Given the description of an element on the screen output the (x, y) to click on. 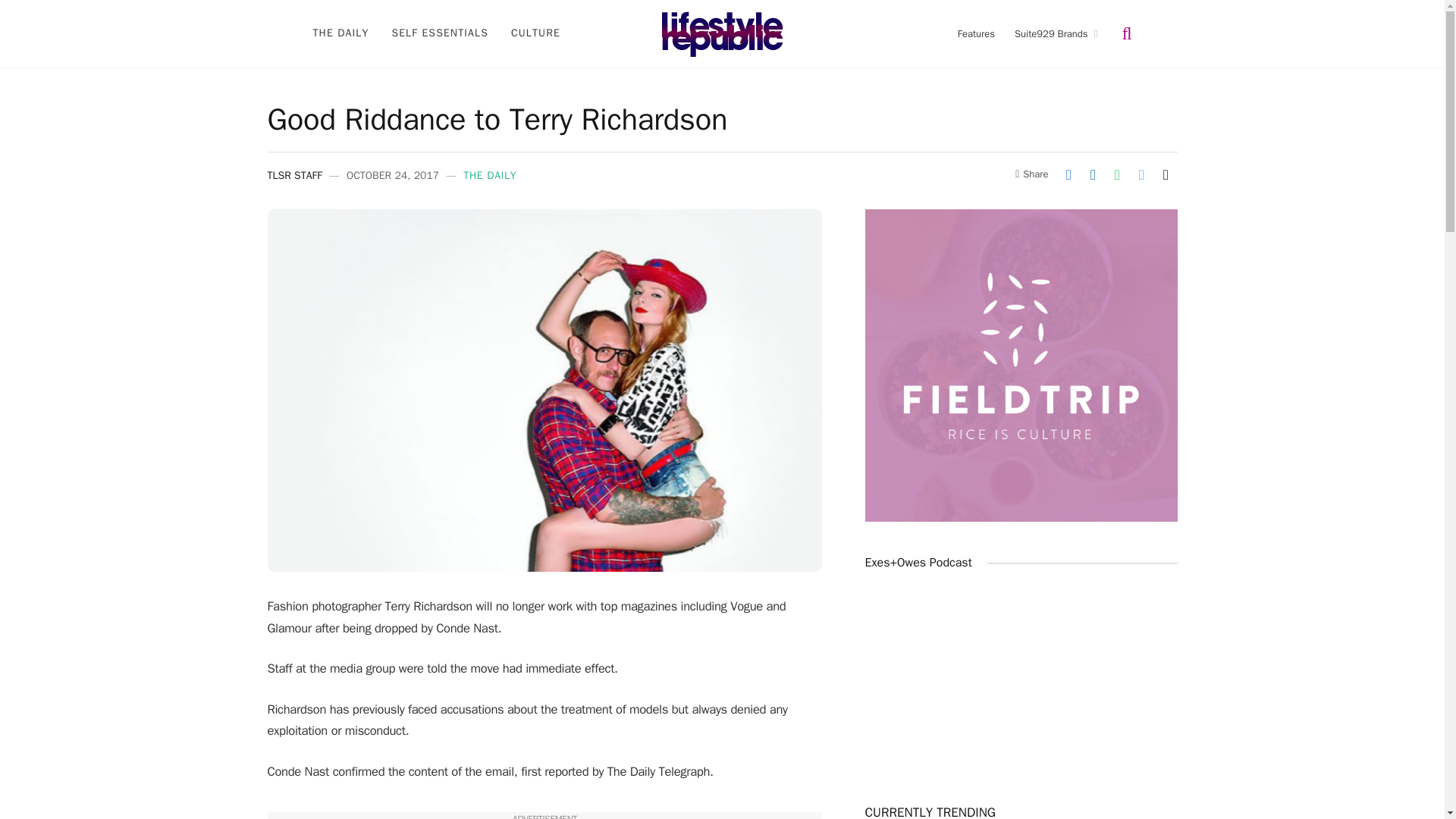
Suite929 Brands (1056, 33)
TLSR STAFF (293, 174)
THE DAILY (489, 174)
Share on Facebook (1068, 174)
SELF ESSENTIALS (439, 33)
Share on LinkedIn (1092, 174)
Lifestyle Republic (721, 33)
Share via Email (1165, 174)
Posts by TLSR Staff (293, 174)
